Given the description of an element on the screen output the (x, y) to click on. 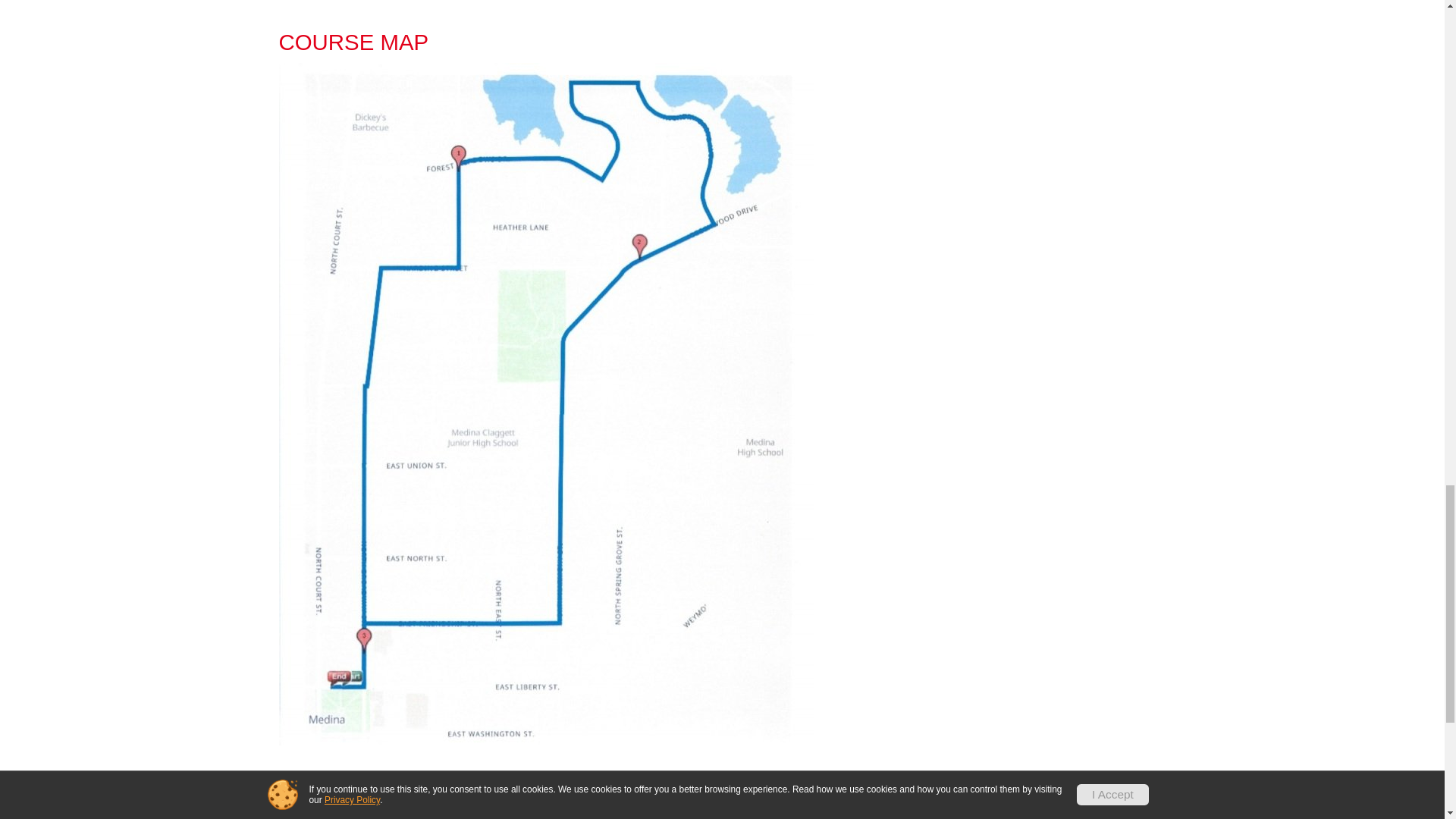
View Map (721, 814)
